Given the description of an element on the screen output the (x, y) to click on. 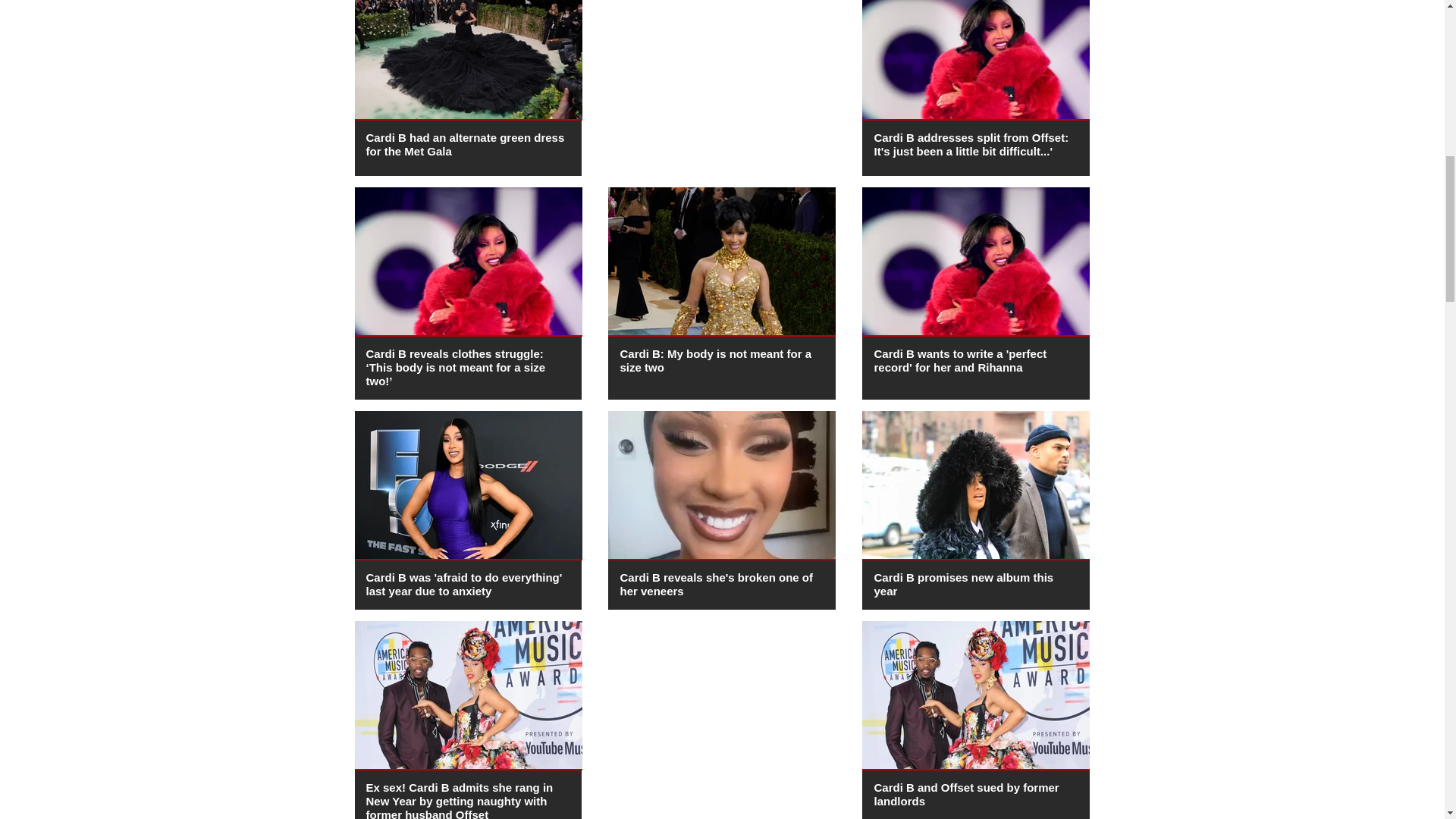
Cardi B had an alternate green dress for the Met Gala (464, 144)
Cardi B: My body is not meant for a size two (715, 360)
Cardi B: My body is not meant for a size two (715, 360)
Cardi B had an alternate green dress for the Met Gala (464, 144)
